Given the description of an element on the screen output the (x, y) to click on. 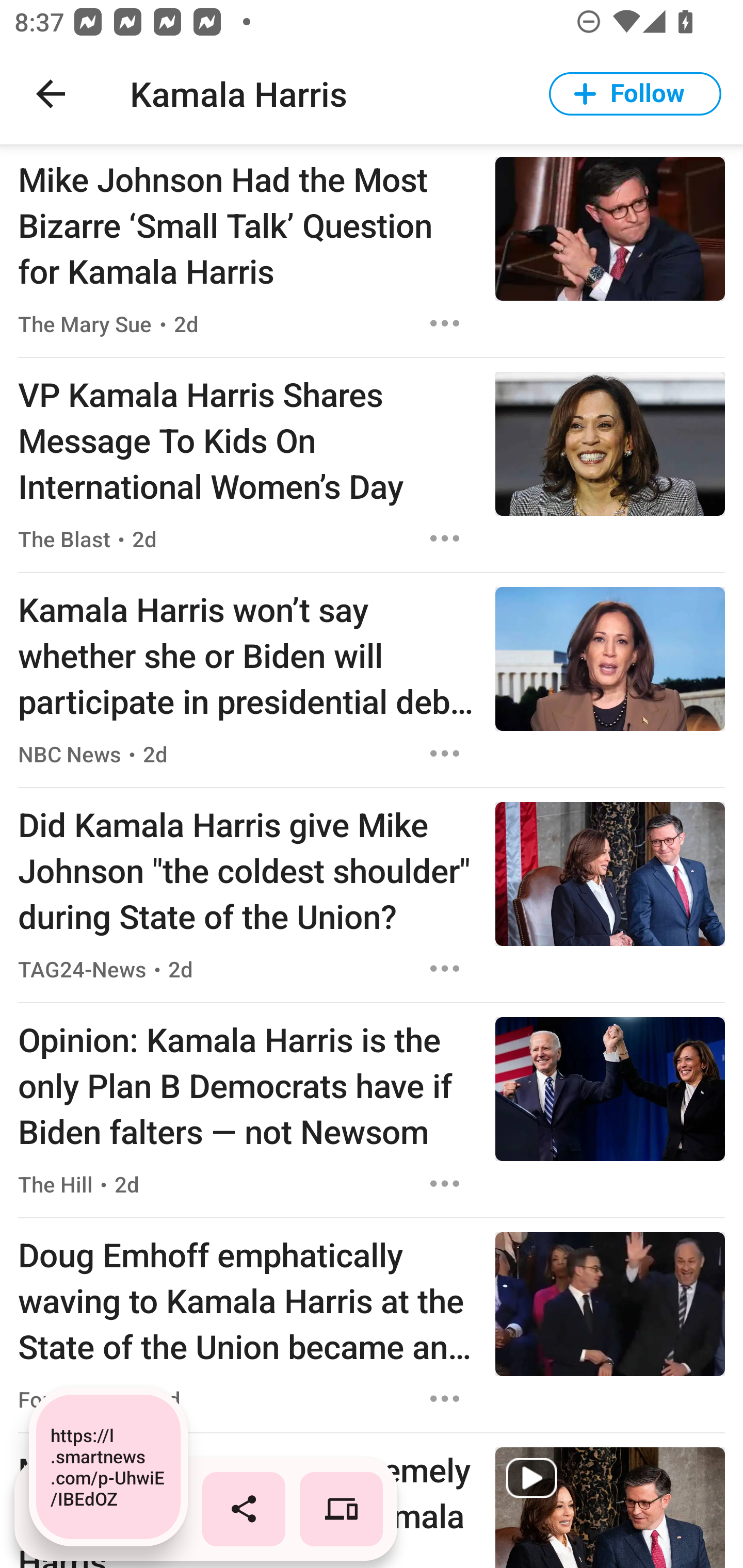
Navigate up (50, 93)
Follow (635, 94)
Options (444, 322)
Options (444, 538)
Options (444, 753)
Options (444, 968)
Options (444, 1183)
Options (444, 1398)
